Given the description of an element on the screen output the (x, y) to click on. 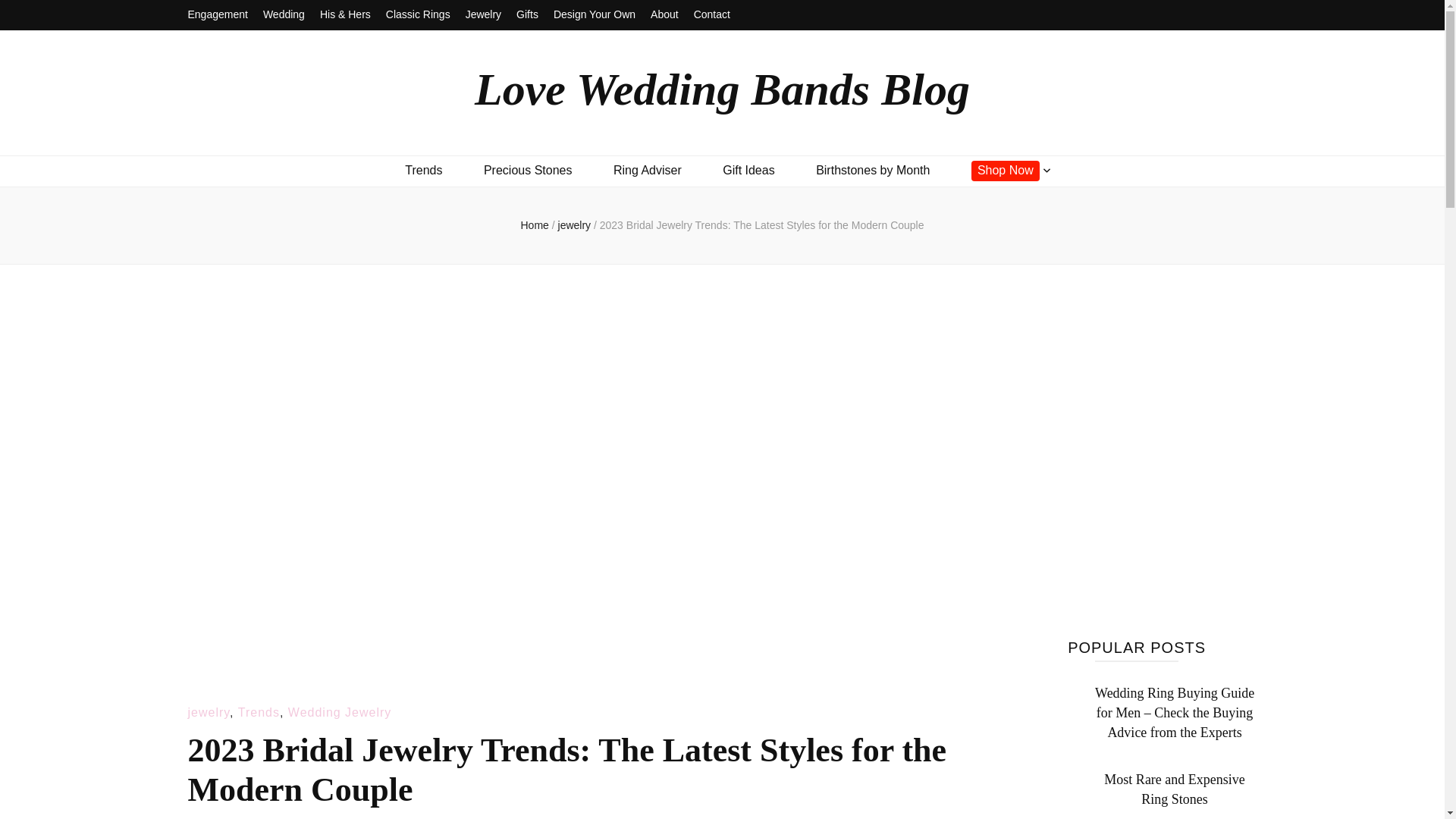
Love Wedding Bands Blog (721, 89)
Jewelry (482, 15)
Contact (712, 15)
Trends (423, 170)
Birthstones by Month (872, 170)
About (664, 15)
Gift Ideas (748, 170)
Shop Now (1005, 170)
Wedding (283, 15)
Engagement (217, 15)
